Given the description of an element on the screen output the (x, y) to click on. 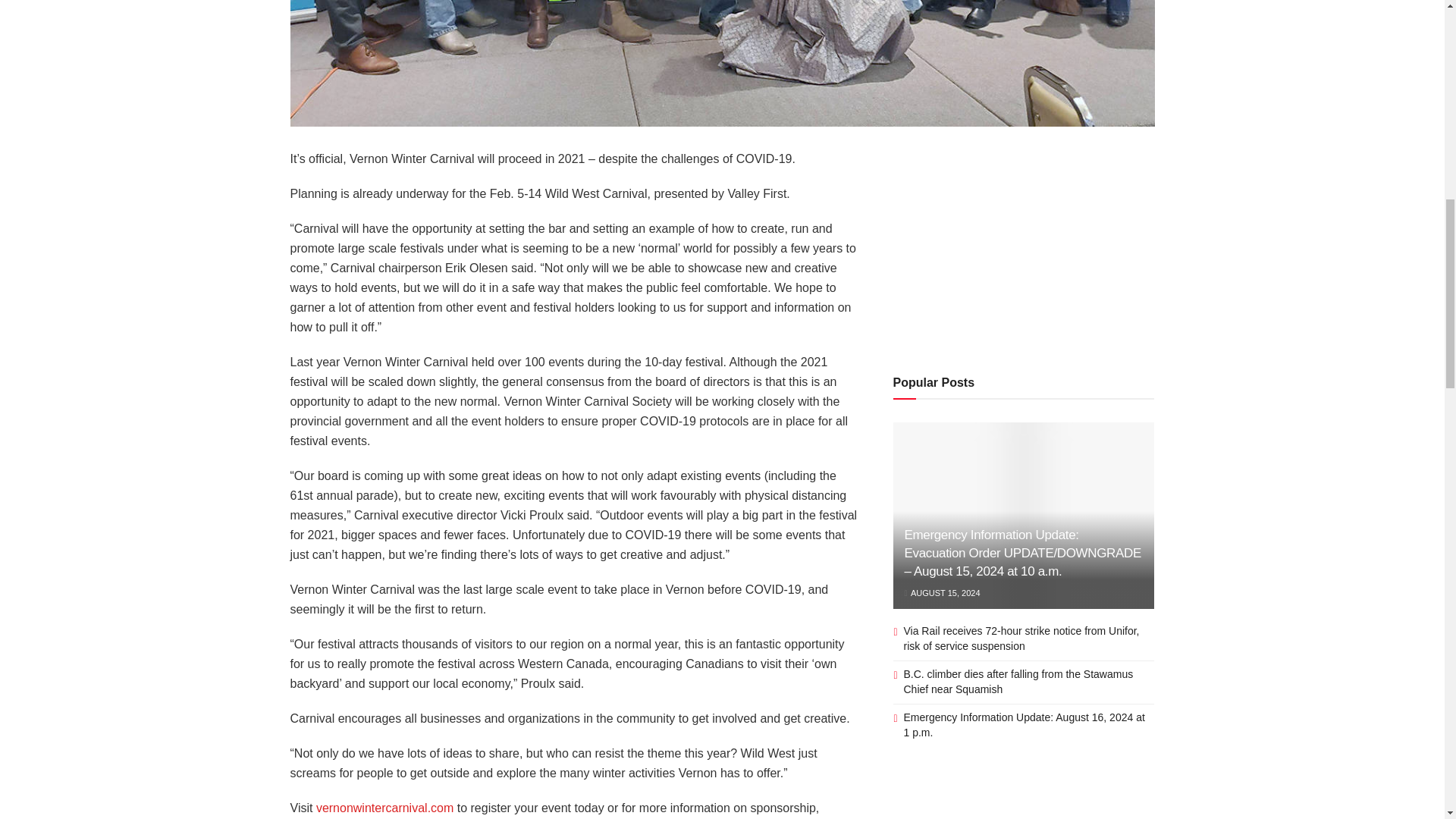
vernonwintercarnival.com (383, 807)
3rd party ad content (1023, 244)
3rd party ad content (1023, 800)
